Given the description of an element on the screen output the (x, y) to click on. 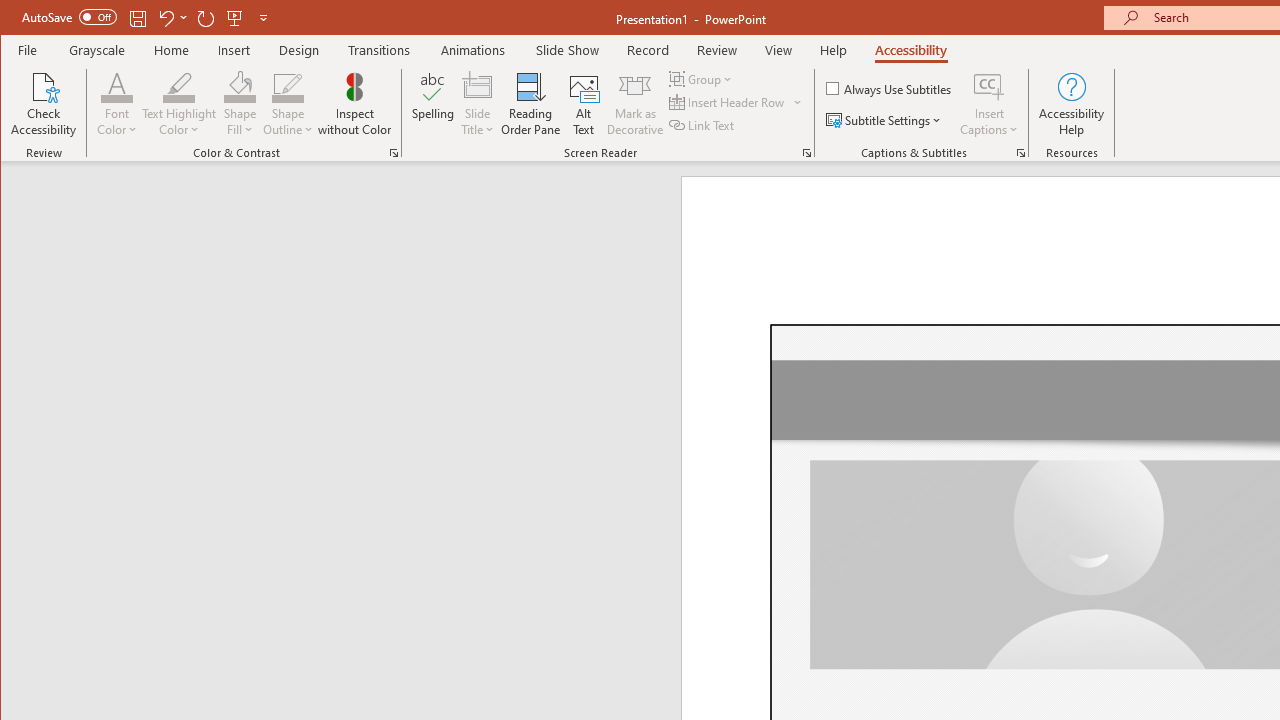
Grayscale (97, 50)
Mark as Decorative (635, 104)
Subtitle Settings (885, 119)
Slide Title (477, 104)
